Given the description of an element on the screen output the (x, y) to click on. 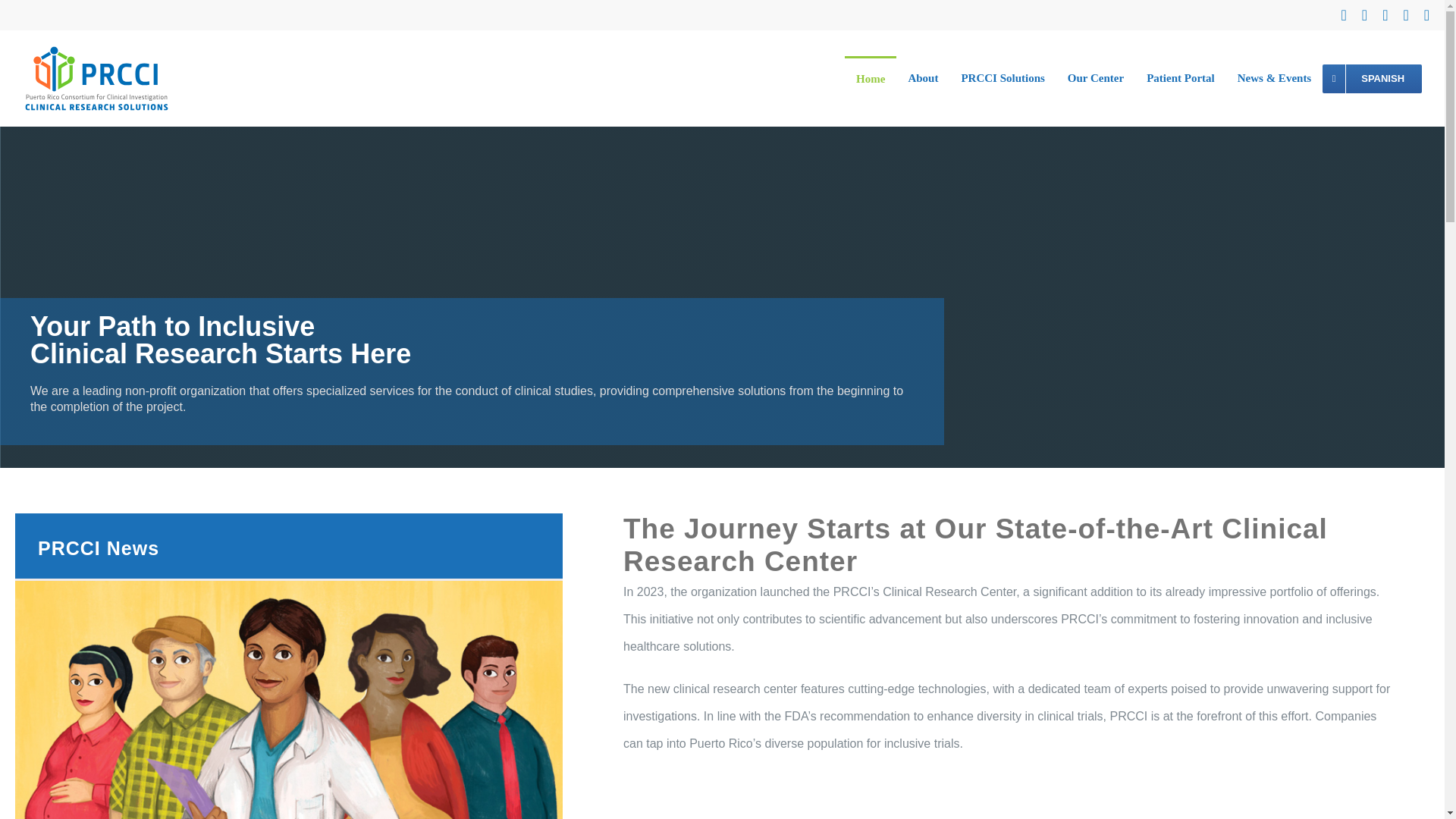
SPANISH (1372, 78)
Patient Portal (1180, 78)
About (922, 78)
PRCCI Solutions (1002, 78)
Home (870, 78)
Our Center (1096, 78)
